Given the description of an element on the screen output the (x, y) to click on. 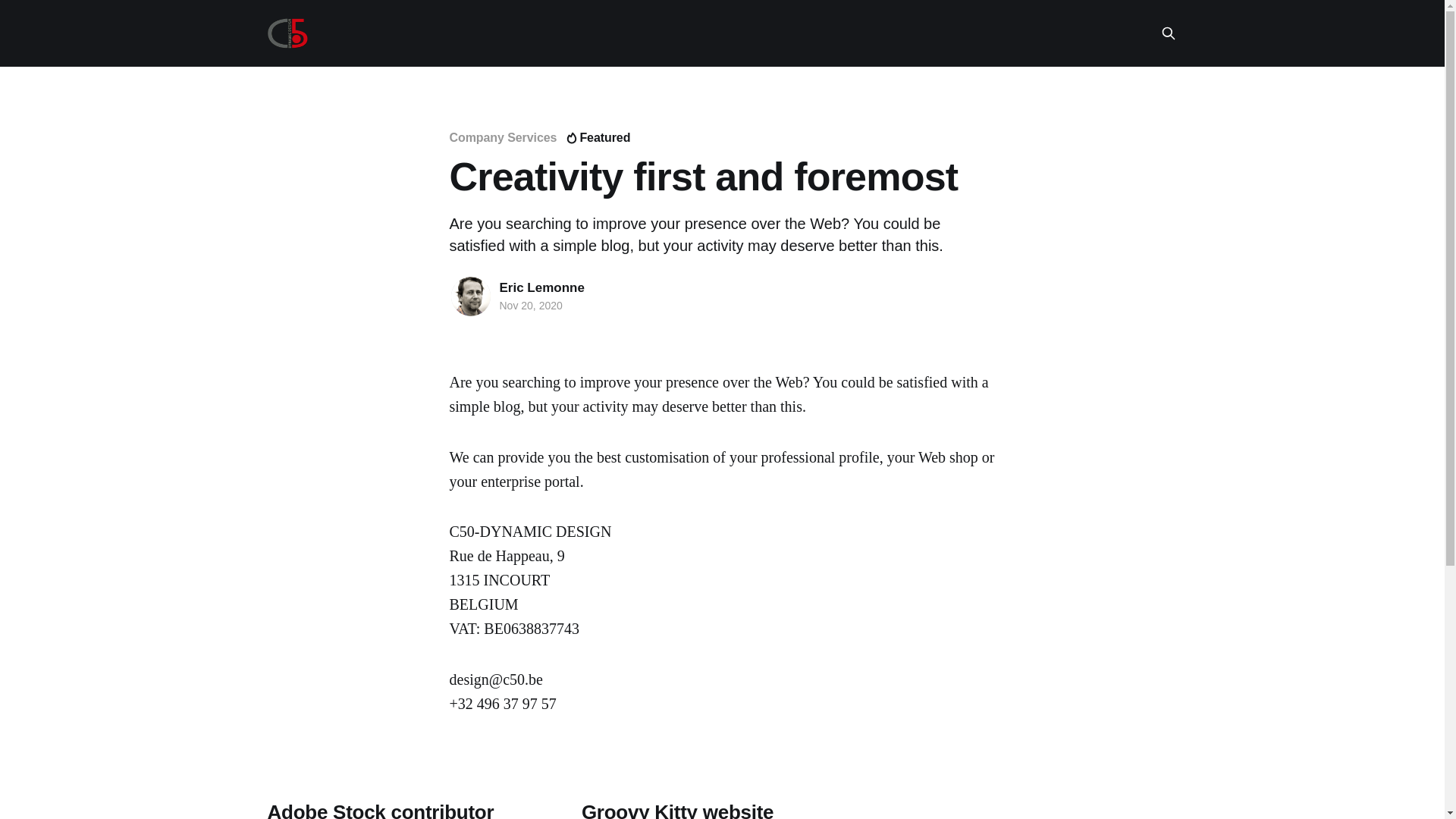
Company Services Element type: text (502, 137)
Eric Lemonne Element type: text (540, 287)
